Given the description of an element on the screen output the (x, y) to click on. 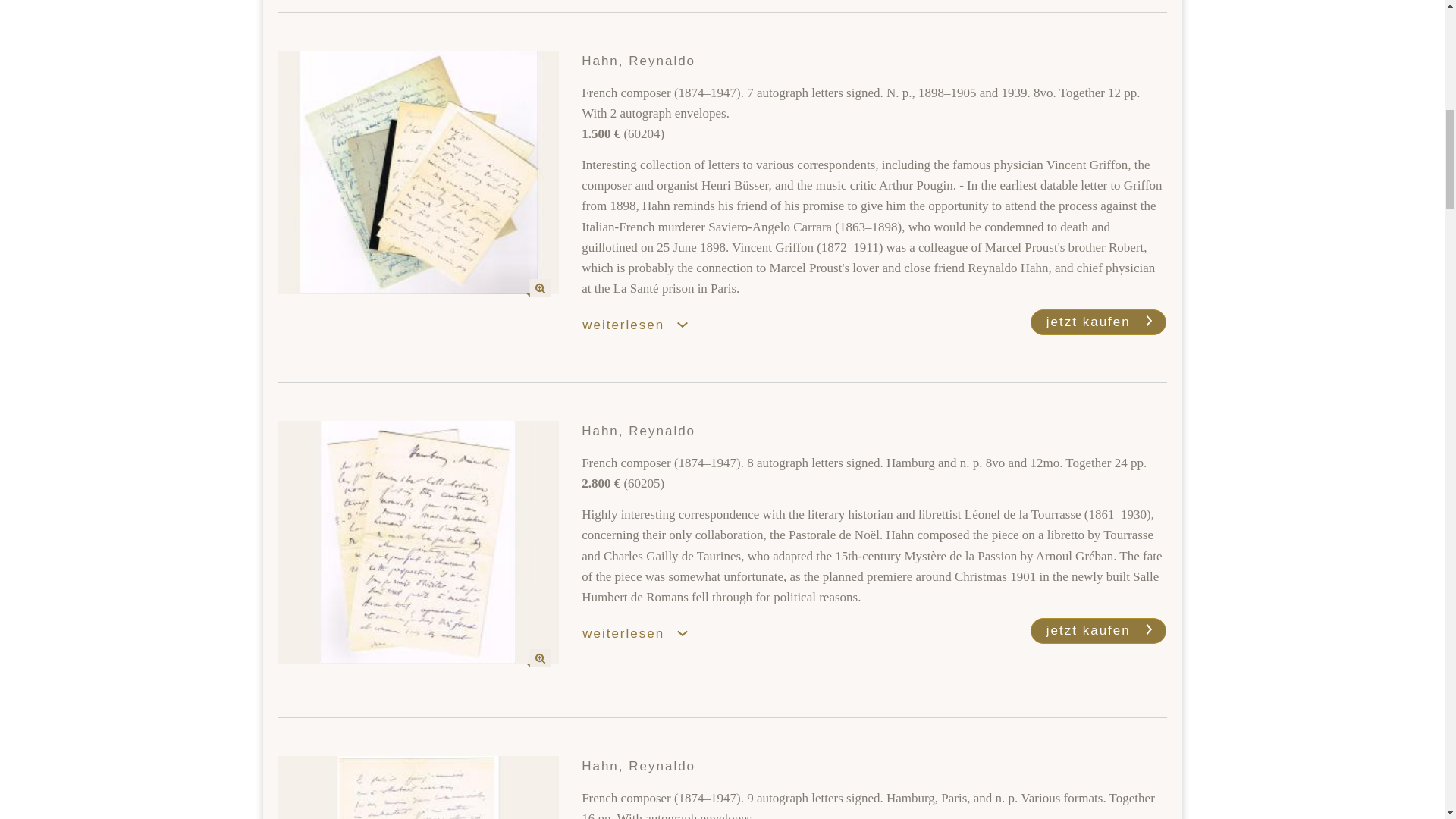
jetzt kaufen (1098, 321)
weiterlesen (642, 324)
Hahn, Reynaldo (418, 172)
weiterlesen (642, 633)
Hahn, Reynaldo (418, 787)
Hahn, Reynaldo (418, 542)
jetzt kaufen (1098, 630)
